Given the description of an element on the screen output the (x, y) to click on. 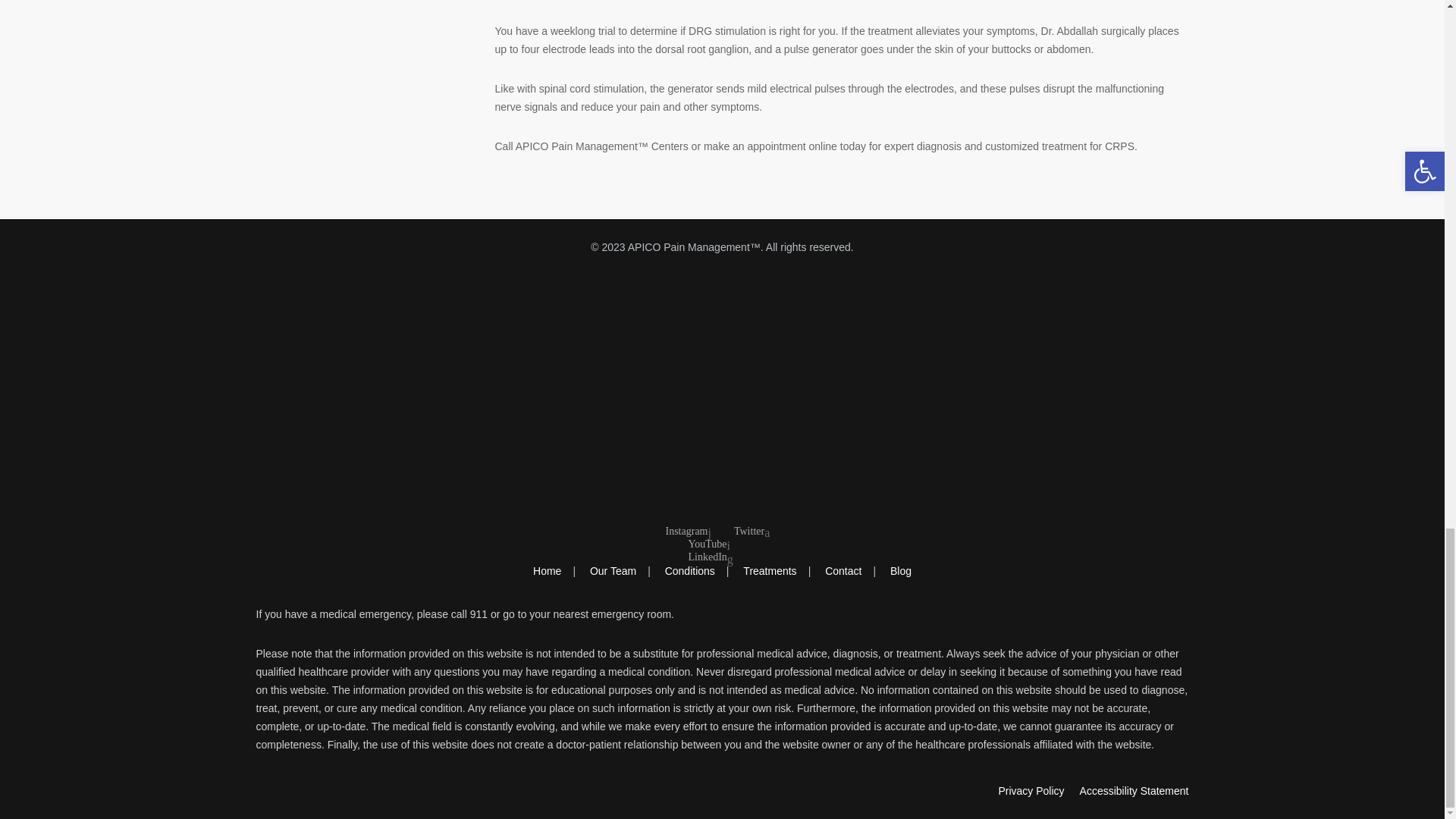
Apico Pain Facebook page (722, 503)
